Given the description of an element on the screen output the (x, y) to click on. 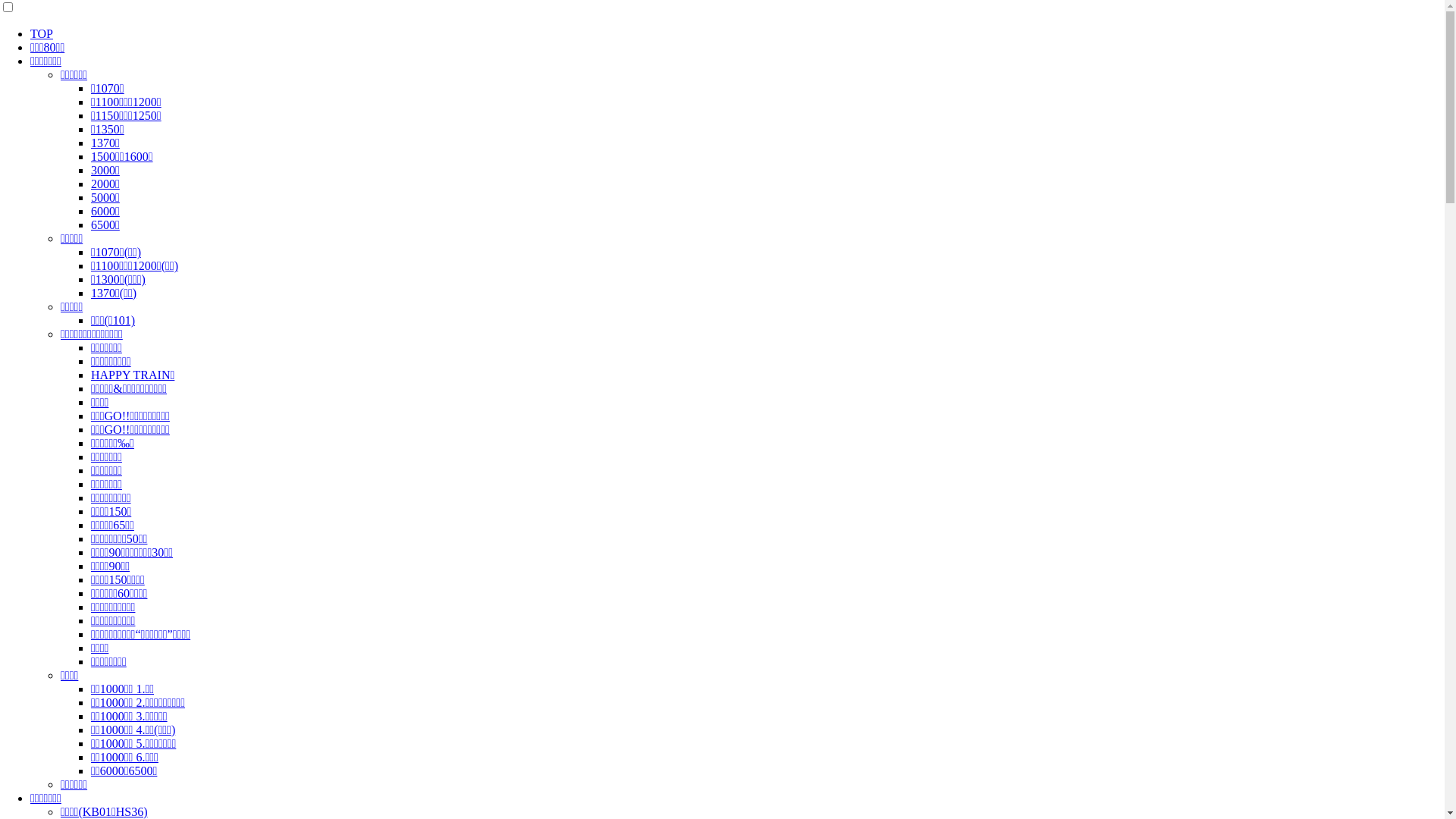
TOP Element type: text (41, 33)
